Given the description of an element on the screen output the (x, y) to click on. 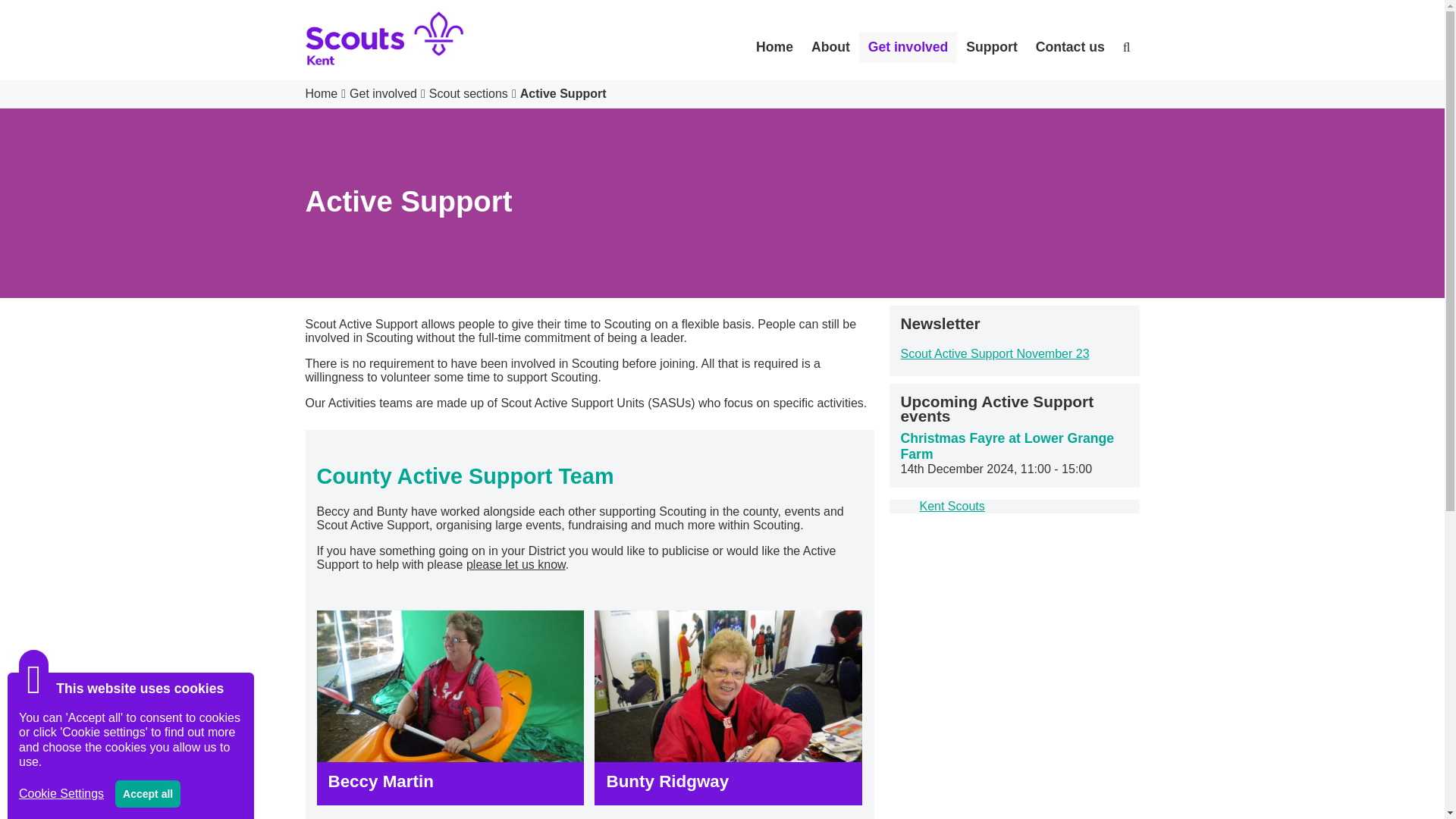
Get involved (908, 47)
About (830, 47)
Scout sections (474, 92)
Kent Scouts homepage (774, 47)
Get involved (389, 92)
Home (774, 47)
Active Support (563, 92)
Christmas Fayre at Lower Grange Farm (1008, 445)
Kent Scouts homepage (326, 92)
